Given the description of an element on the screen output the (x, y) to click on. 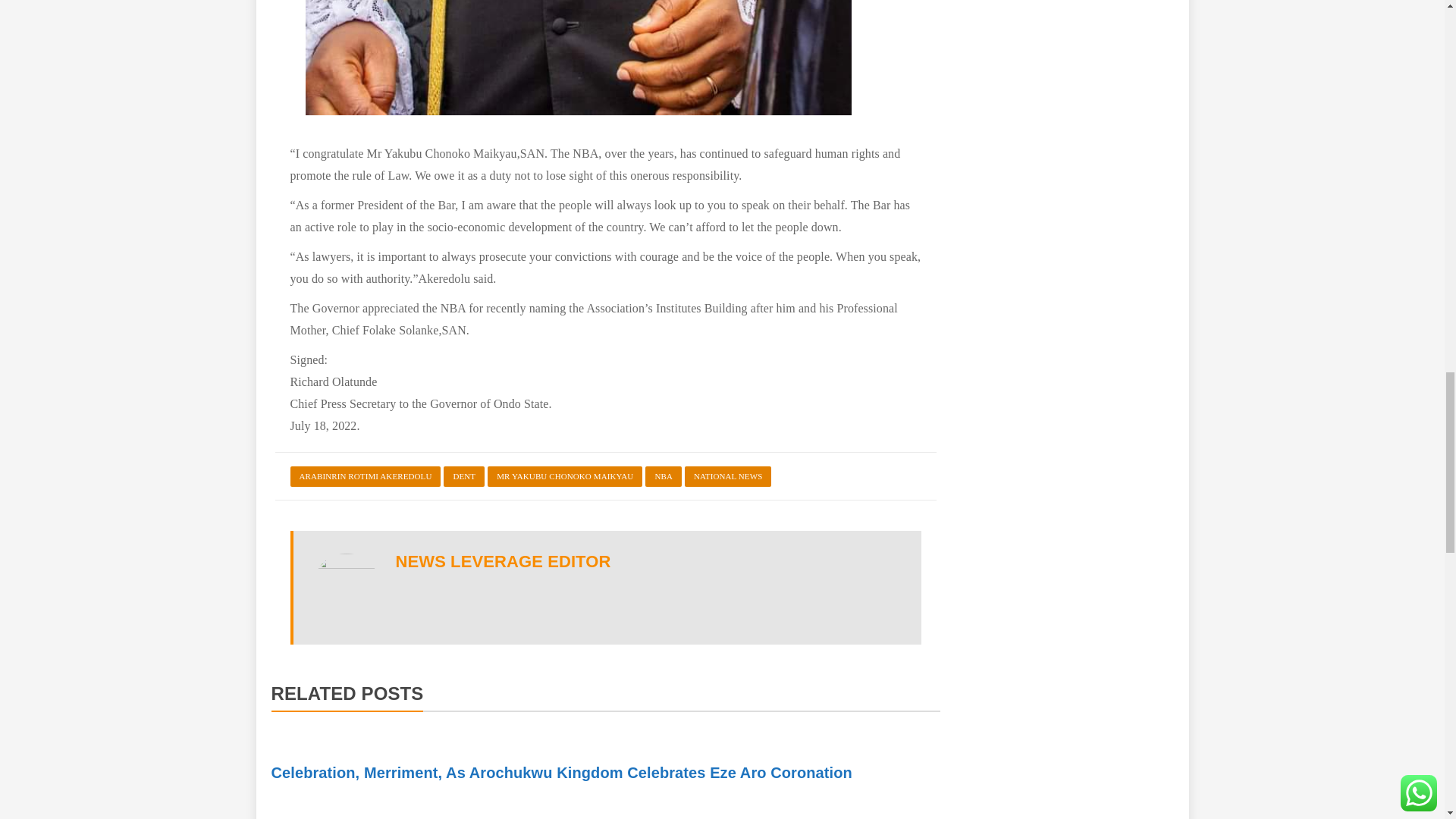
DENT (464, 476)
ARABINRIN ROTIMI AKEREDOLU (365, 476)
MR YAKUBU CHONOKO MAIKYAU (564, 476)
